Given the description of an element on the screen output the (x, y) to click on. 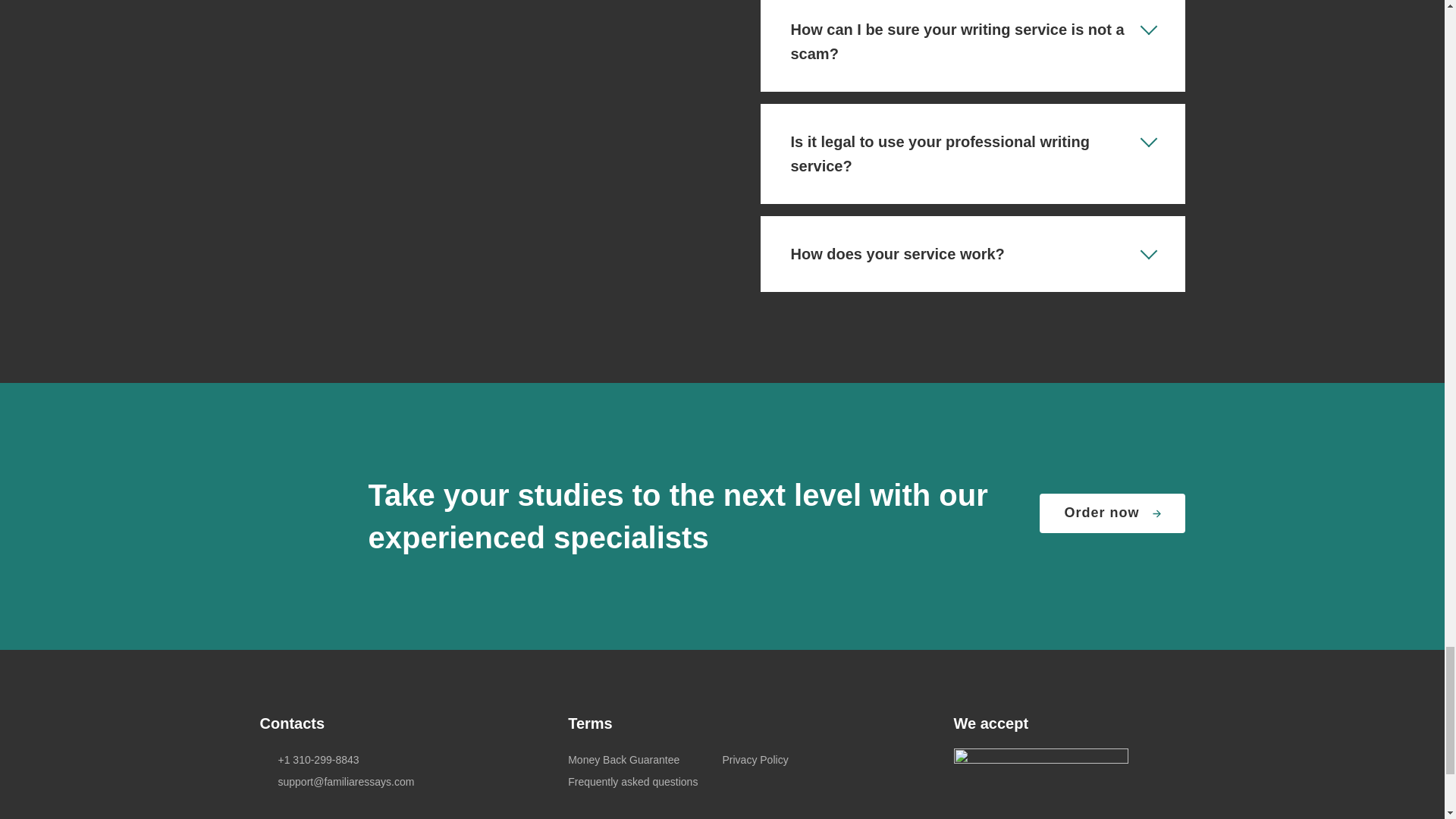
Privacy Policy (754, 759)
Frequently asked questions (632, 781)
Order now (1112, 513)
Money Back Guarantee (623, 759)
